Given the description of an element on the screen output the (x, y) to click on. 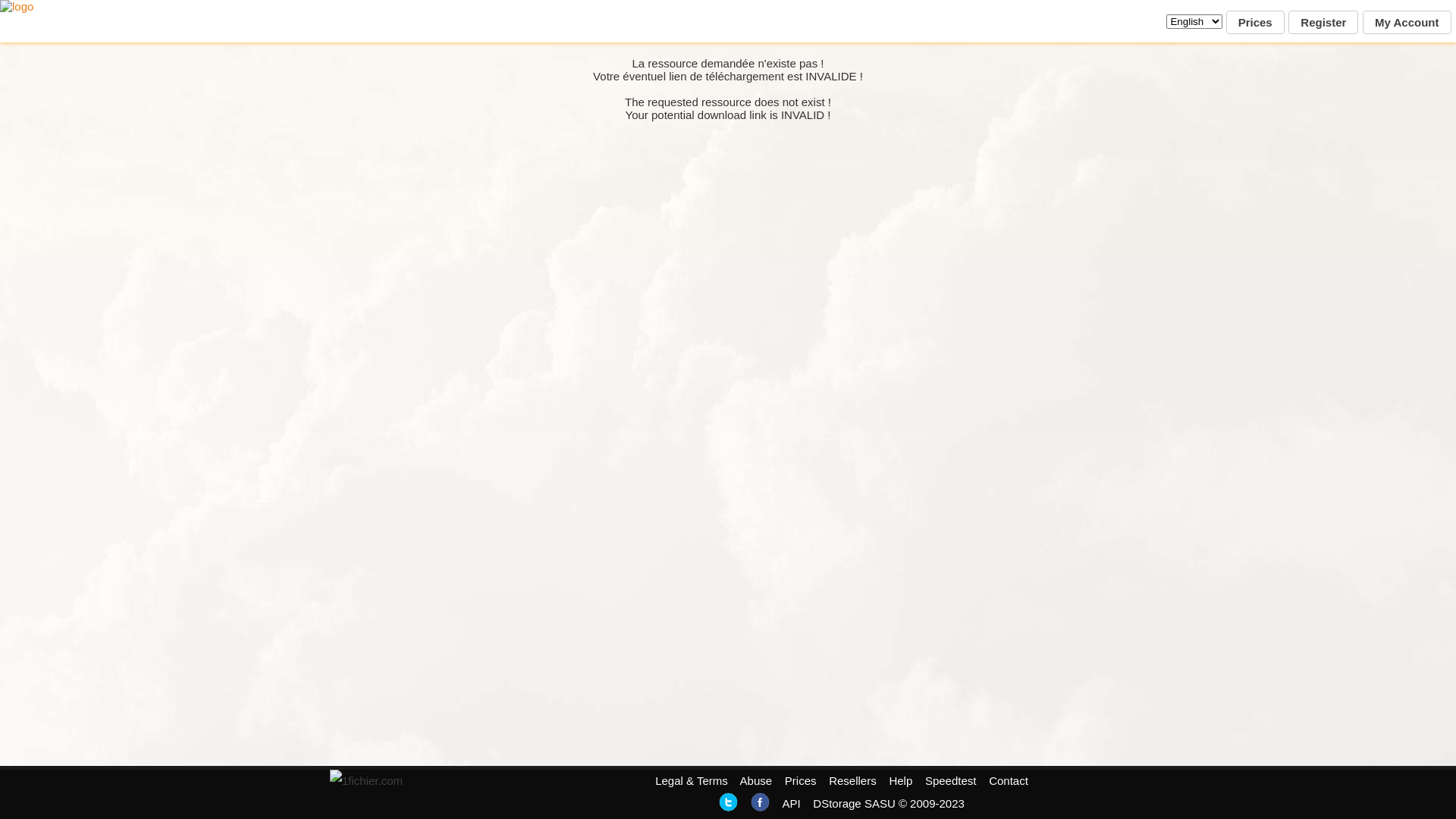
Prices Element type: text (1255, 22)
Legal & Terms Element type: text (691, 780)
Speedtest Element type: text (950, 780)
Resellers Element type: text (852, 780)
Contact Element type: text (1008, 780)
Register Element type: text (1323, 22)
Prices Element type: text (800, 780)
Help Element type: text (900, 780)
Abuse Element type: text (756, 780)
API Element type: text (790, 803)
My Account Element type: text (1406, 22)
